Given the description of an element on the screen output the (x, y) to click on. 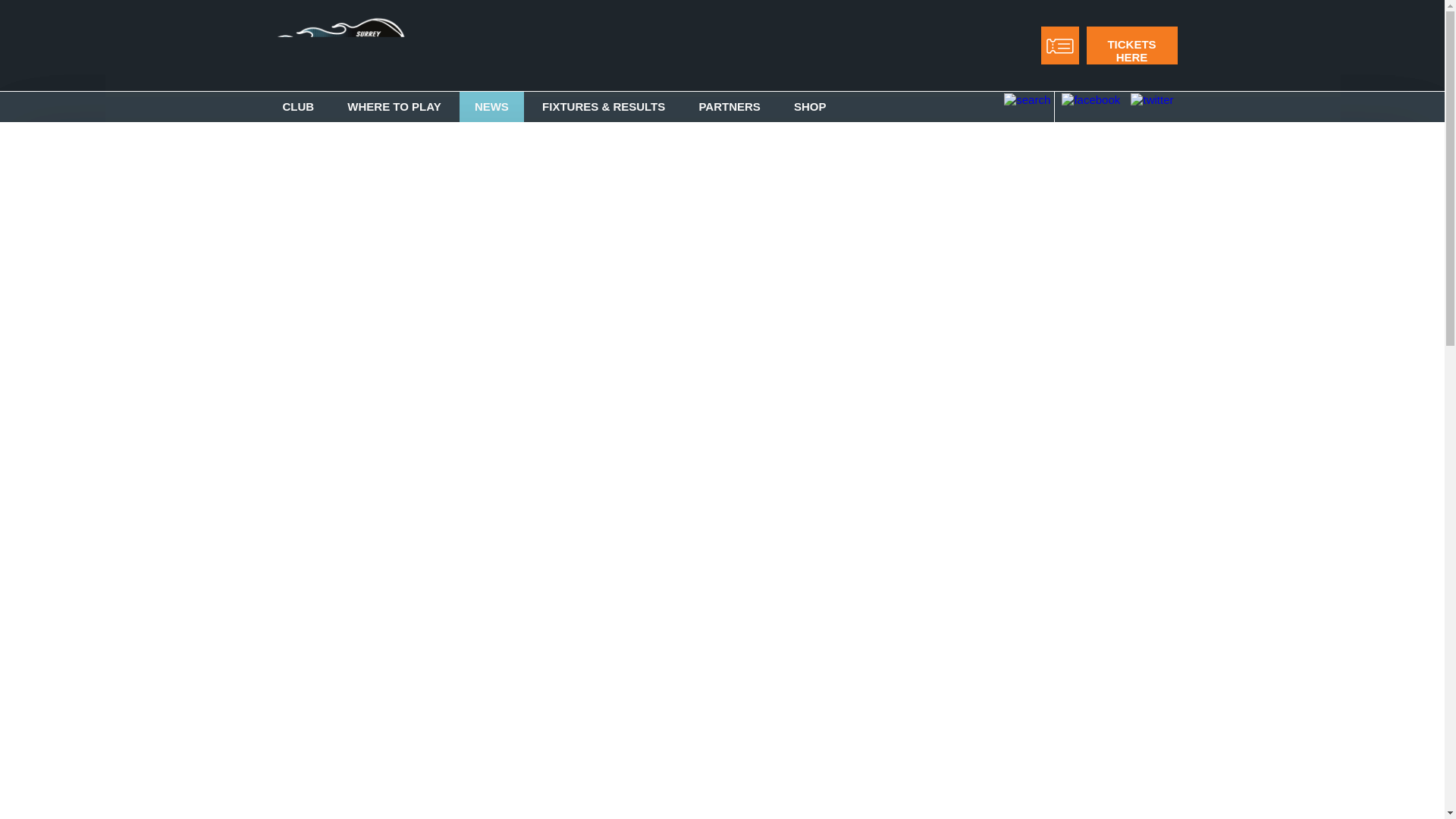
WHERE TO PLAY (393, 106)
SHOP (809, 106)
Volunteering (720, 181)
PARTNERS (728, 106)
Volunteering (325, 332)
12-Week Coaching Course (587, 480)
Health and Wellbeing (456, 438)
Tickets (587, 181)
Locations (325, 438)
Walking Basketball (456, 475)
CLUB (297, 106)
British Basketball League (325, 188)
Academy (456, 181)
Holiday Camps (587, 653)
NEWS (492, 106)
